Given the description of an element on the screen output the (x, y) to click on. 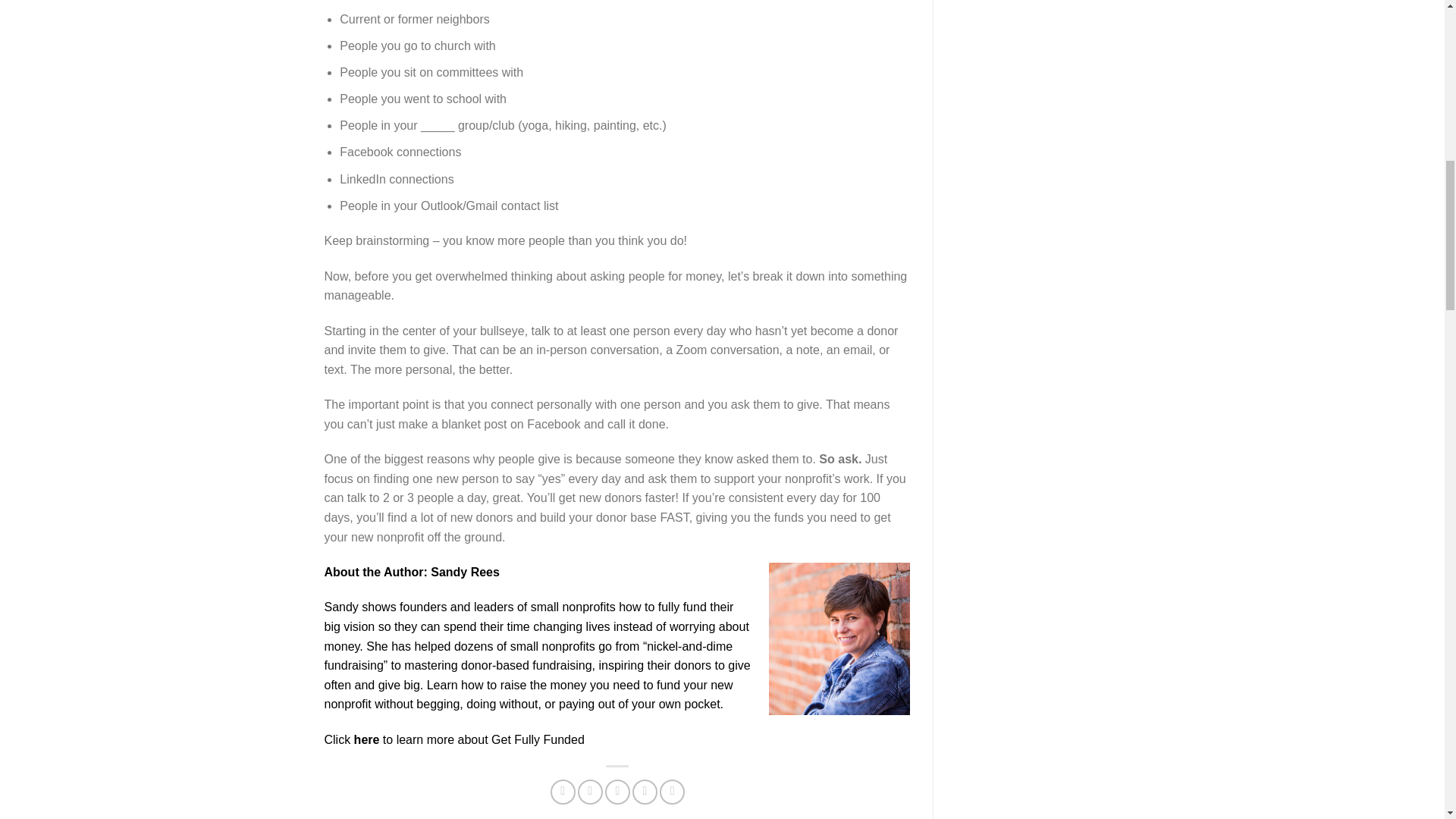
Pin on Pinterest (644, 791)
Share on LinkedIn (671, 791)
Share on Facebook (562, 791)
Email to a Friend (617, 791)
Share on Twitter (590, 791)
